Given the description of an element on the screen output the (x, y) to click on. 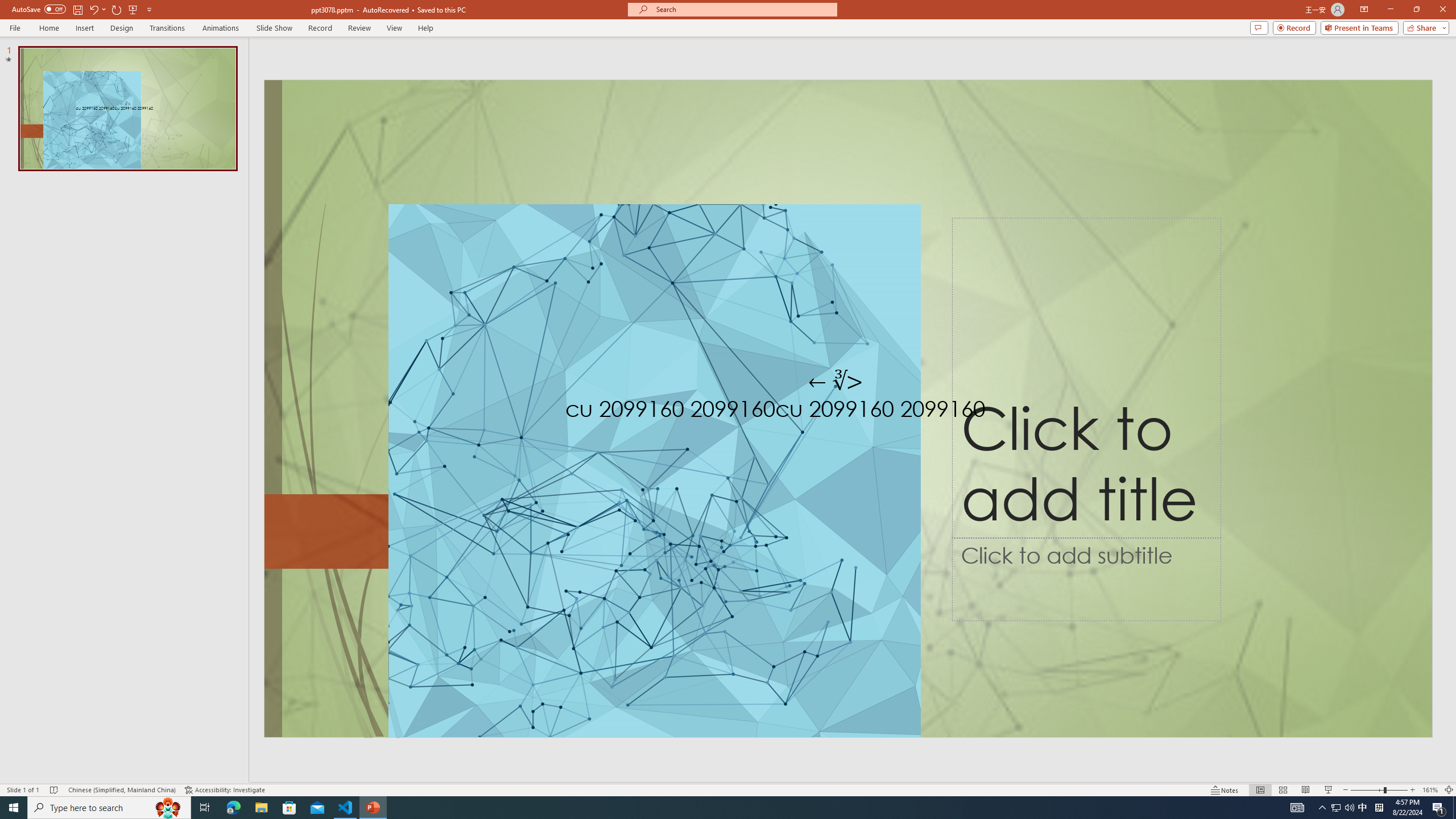
Zoom 161% (1430, 790)
